Given the description of an element on the screen output the (x, y) to click on. 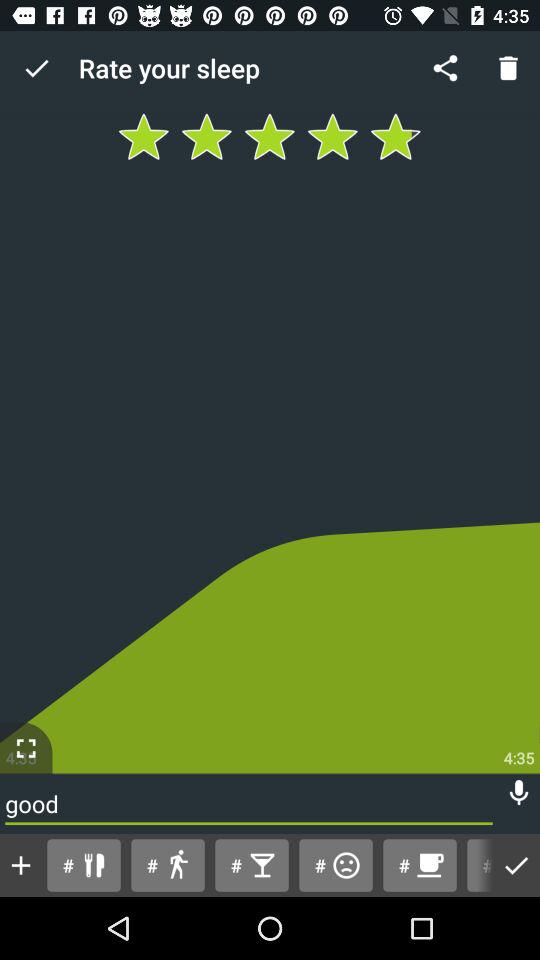
tap button to the left of # button (335, 864)
